Given the description of an element on the screen output the (x, y) to click on. 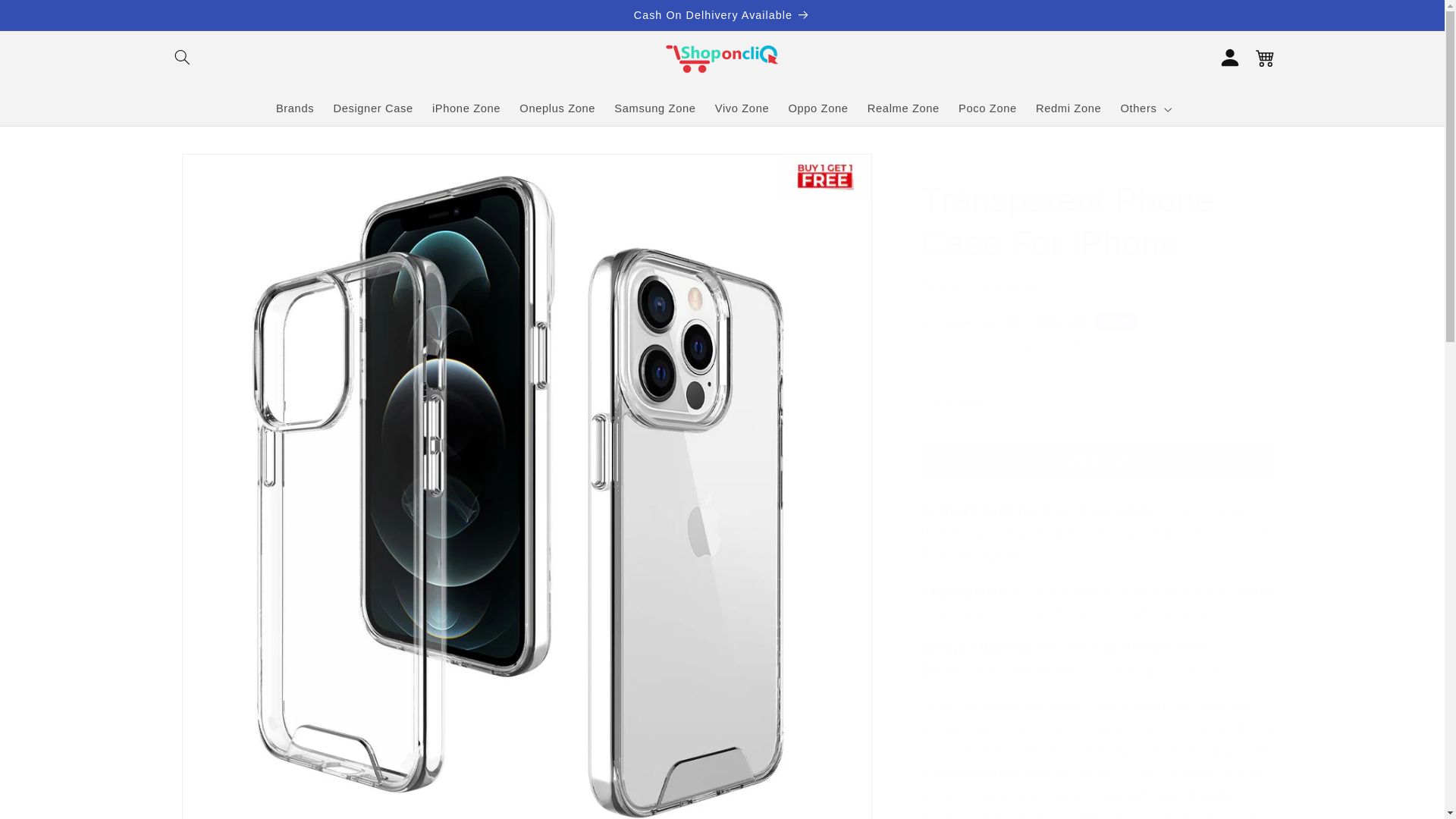
Skip to content (48, 18)
Cash On Delhivery Available (722, 15)
Oneplus Zone (558, 109)
Designer Case (373, 109)
Samsung Zone (654, 109)
Brands (294, 109)
iPhone Zone (465, 109)
